Given the description of an element on the screen output the (x, y) to click on. 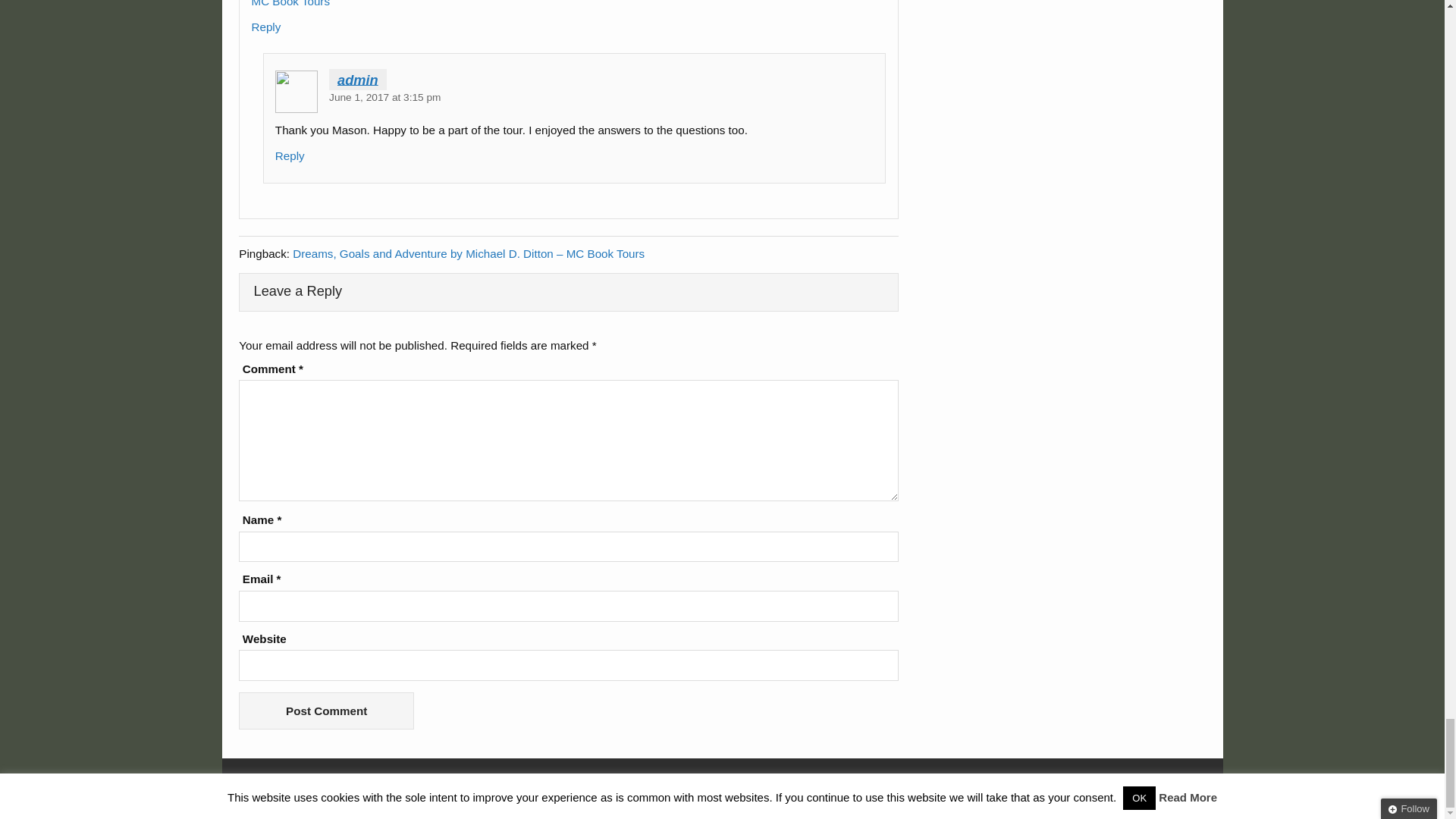
WordPress (1114, 782)
Post Comment (325, 710)
Courage WordPress Theme (1183, 782)
